Given the description of an element on the screen output the (x, y) to click on. 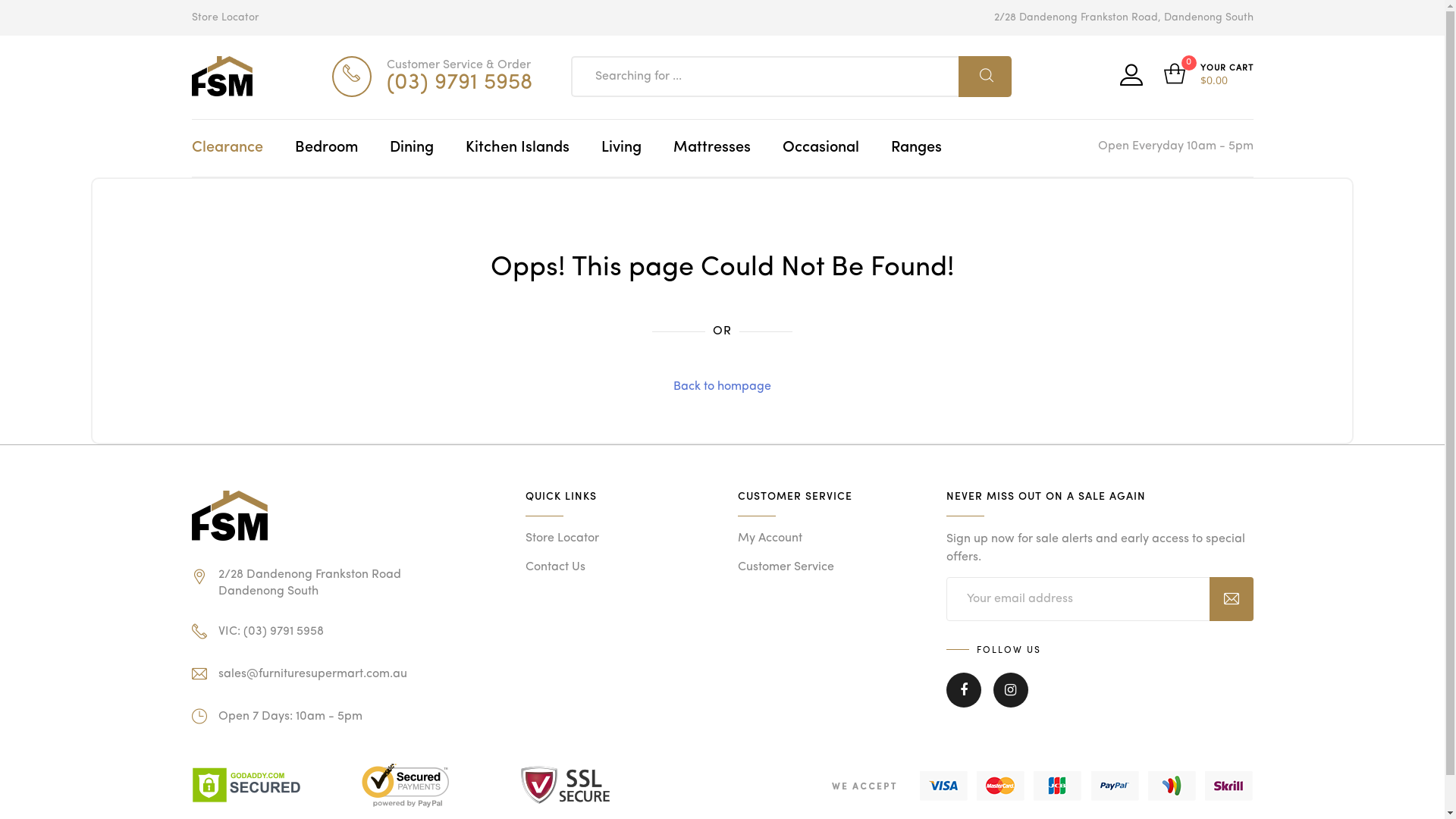
Subscribe Element type: text (1230, 599)
Bedroom Element type: text (325, 147)
0 Element type: text (1181, 76)
My Account Element type: text (769, 538)
Occasional Element type: text (820, 147)
Dining Element type: text (411, 147)
Clearance Element type: text (226, 147)
Kitchen Islands Element type: text (517, 147)
Facebook Element type: text (963, 700)
Store Locator Element type: text (561, 538)
Back to hompage Element type: text (721, 386)
Living Element type: text (620, 147)
Ranges Element type: text (915, 147)
Mattresses Element type: text (711, 147)
Furniture-Super-Mart-Logo-old Element type: hover (228, 515)
Store Locator Element type: text (224, 17)
2/28 Dandenong Frankston Road, Dandenong South Element type: text (1122, 17)
Customer Service Element type: text (785, 567)
Instagram Element type: text (1010, 700)
Contact Us Element type: text (554, 567)
